Given the description of an element on the screen output the (x, y) to click on. 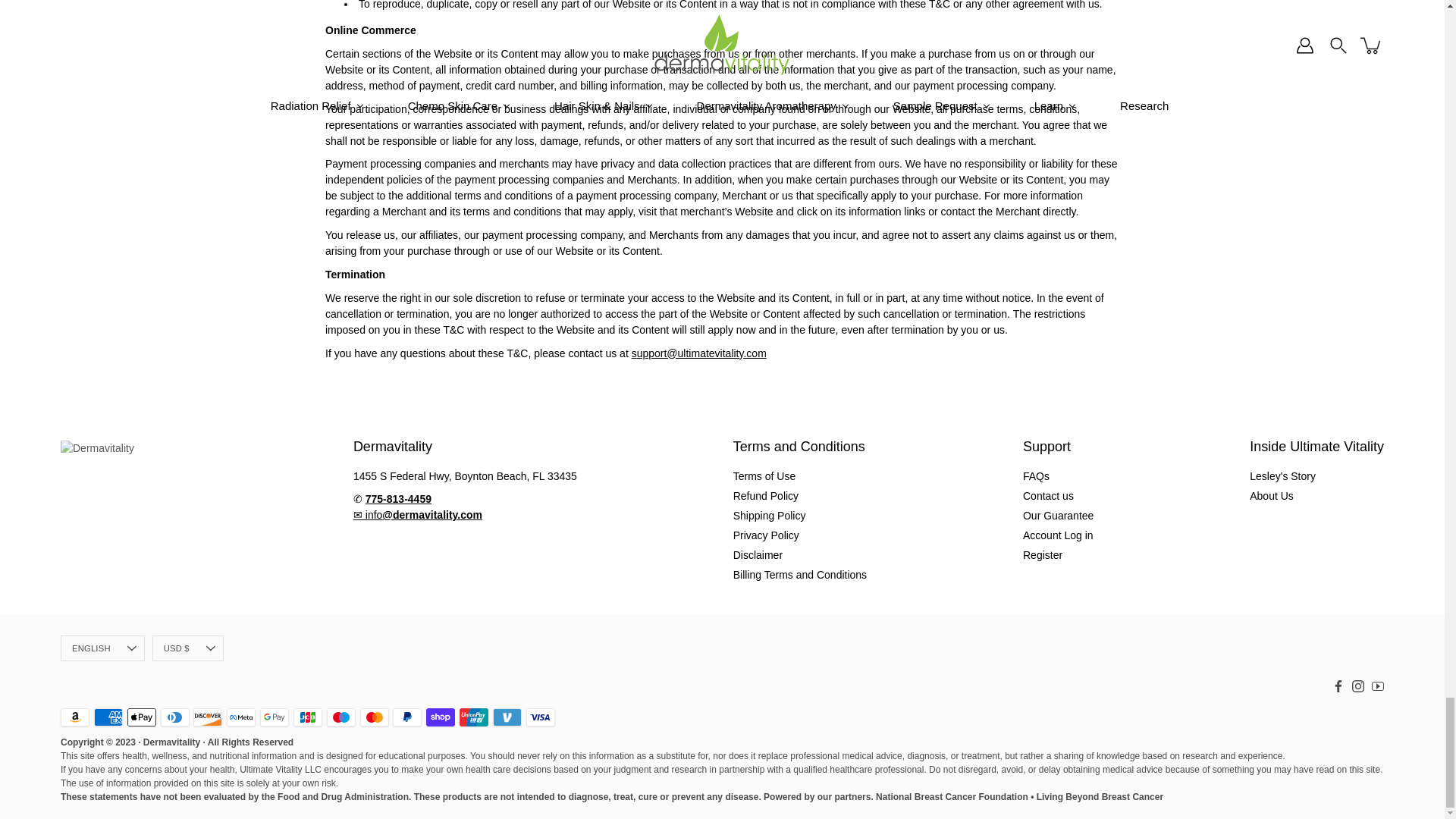
Diners Club (174, 717)
JCB (307, 717)
Google Pay (274, 717)
Maestro (340, 717)
Meta Pay (241, 717)
Shop Pay (440, 717)
Amazon (74, 717)
PayPal (407, 717)
Discover (207, 717)
tel:775-813-4459 (397, 499)
